Given the description of an element on the screen output the (x, y) to click on. 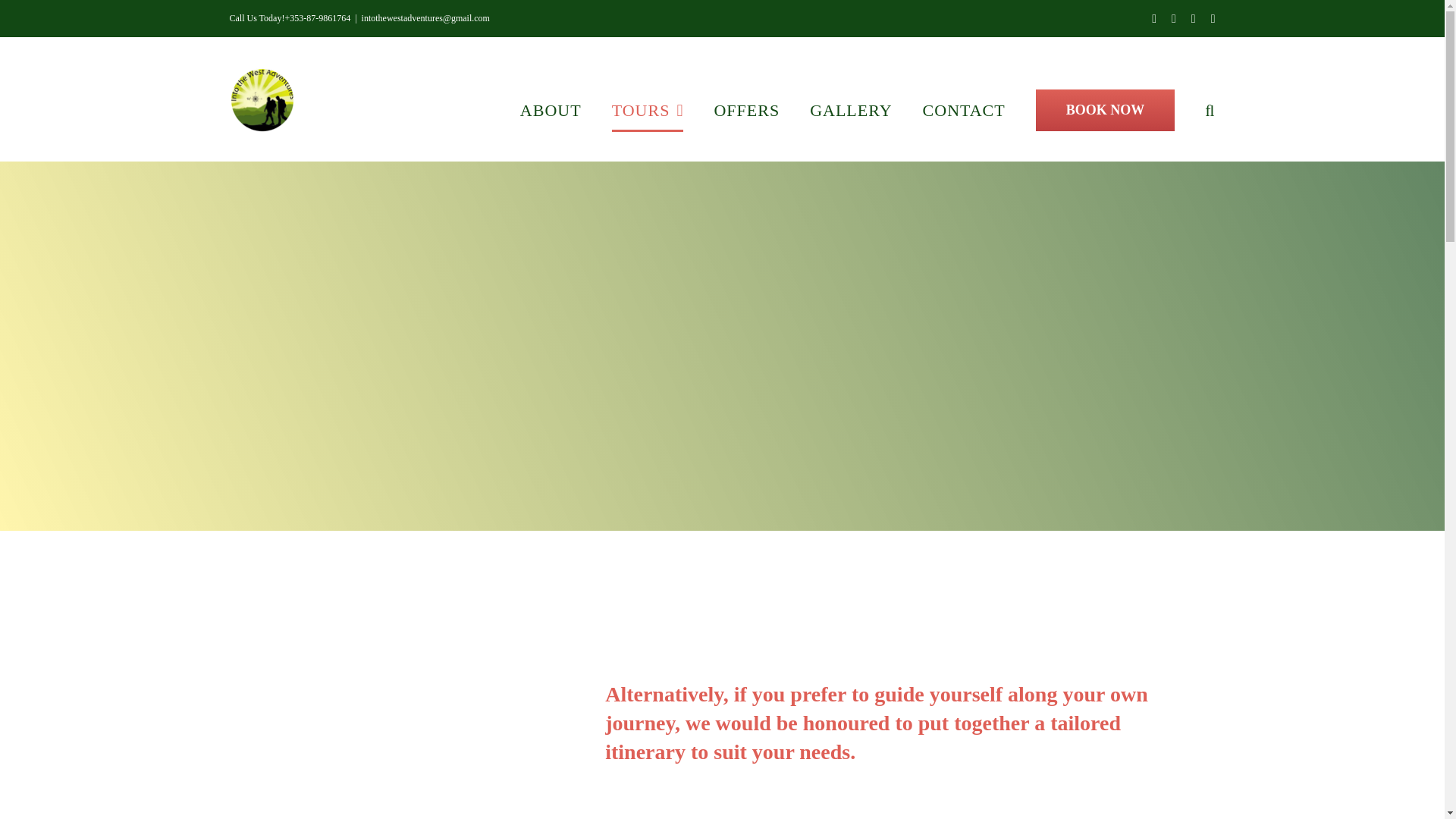
Phone (1193, 18)
Instagram (1174, 18)
Phone (1193, 18)
Facebook (1153, 18)
Instagram (1174, 18)
BOOK NOW (1104, 109)
ABOUT (549, 109)
TOURS (647, 109)
OFFERS (745, 109)
Facebook (1153, 18)
Email (1213, 18)
Email (1213, 18)
GALLERY (850, 109)
CONTACT (964, 109)
